Given the description of an element on the screen output the (x, y) to click on. 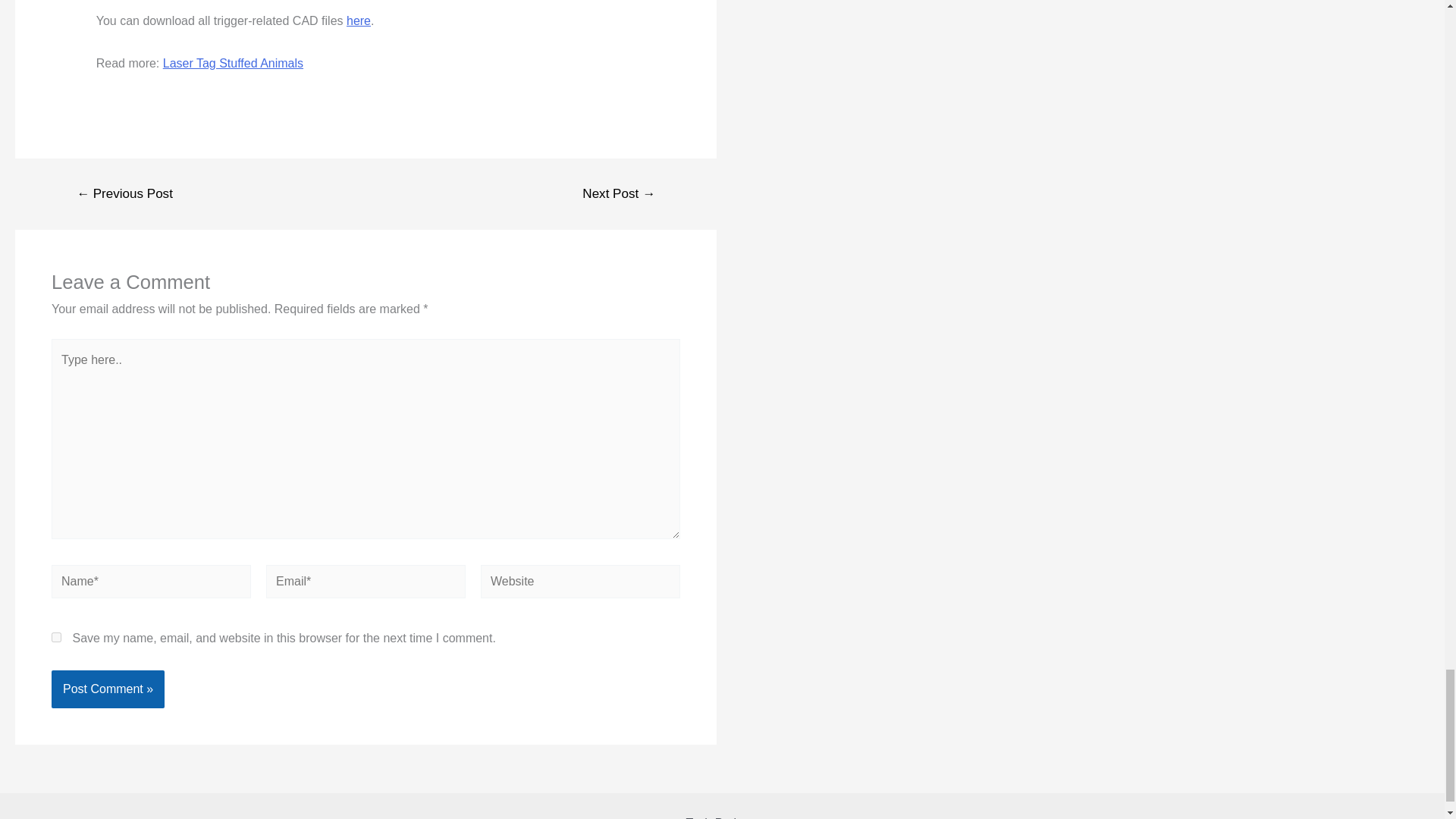
Laser Tag Stuffed Animals (232, 62)
here (358, 20)
yes (55, 637)
Laser Tag Stuffed Animals (232, 62)
